Given the description of an element on the screen output the (x, y) to click on. 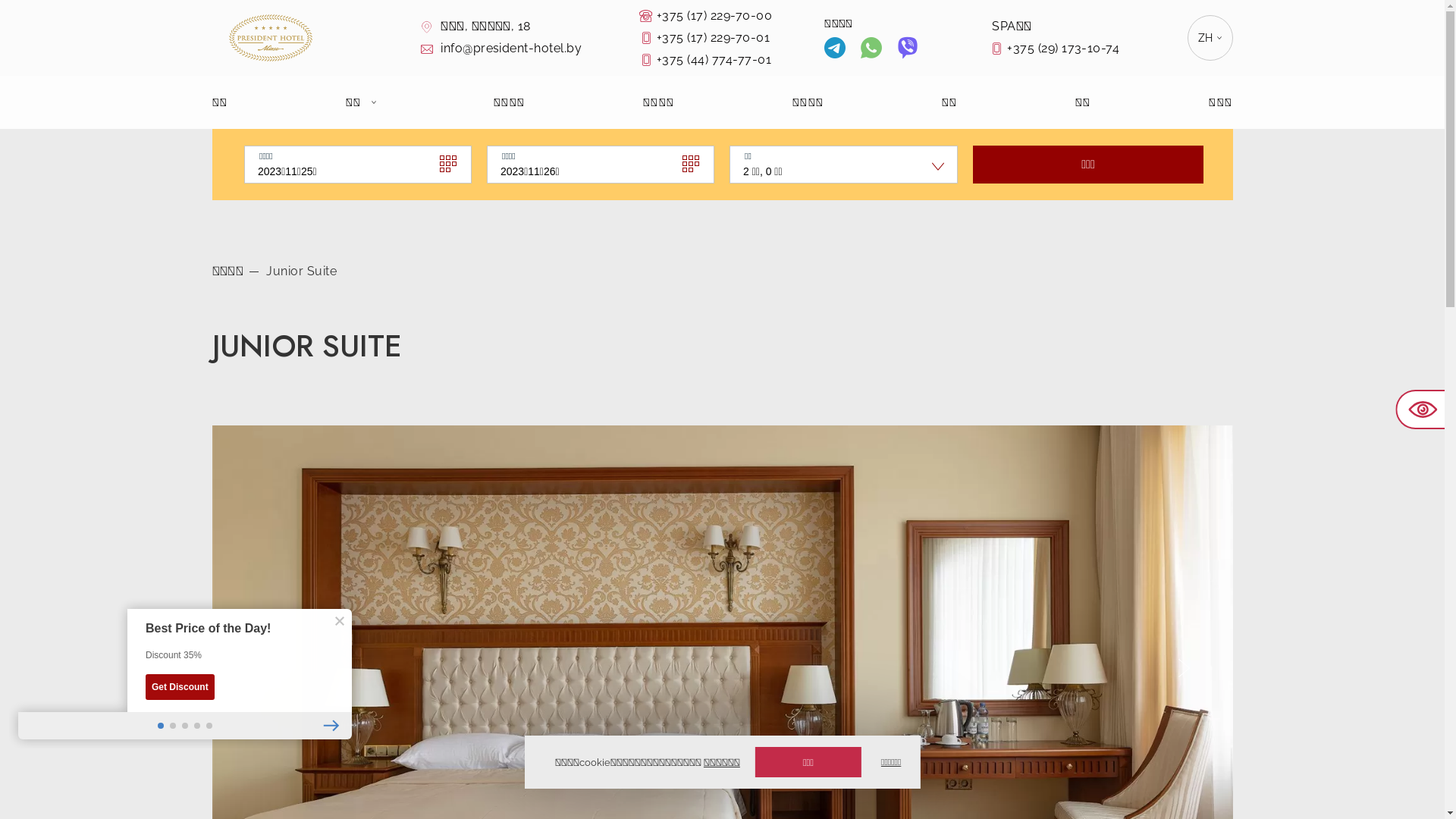
ZH Element type: text (1210, 37)
+375 (17) 229-70-01 Element type: text (729, 38)
Telegram Element type: hover (834, 49)
+375 (17) 229-70-00 Element type: text (729, 15)
info@president-hotel.by Element type: text (499, 47)
WhatsApp Element type: hover (870, 49)
Viber Element type: hover (907, 49)
+375 (44) 774-77-01 Element type: text (729, 59)
